Given the description of an element on the screen output the (x, y) to click on. 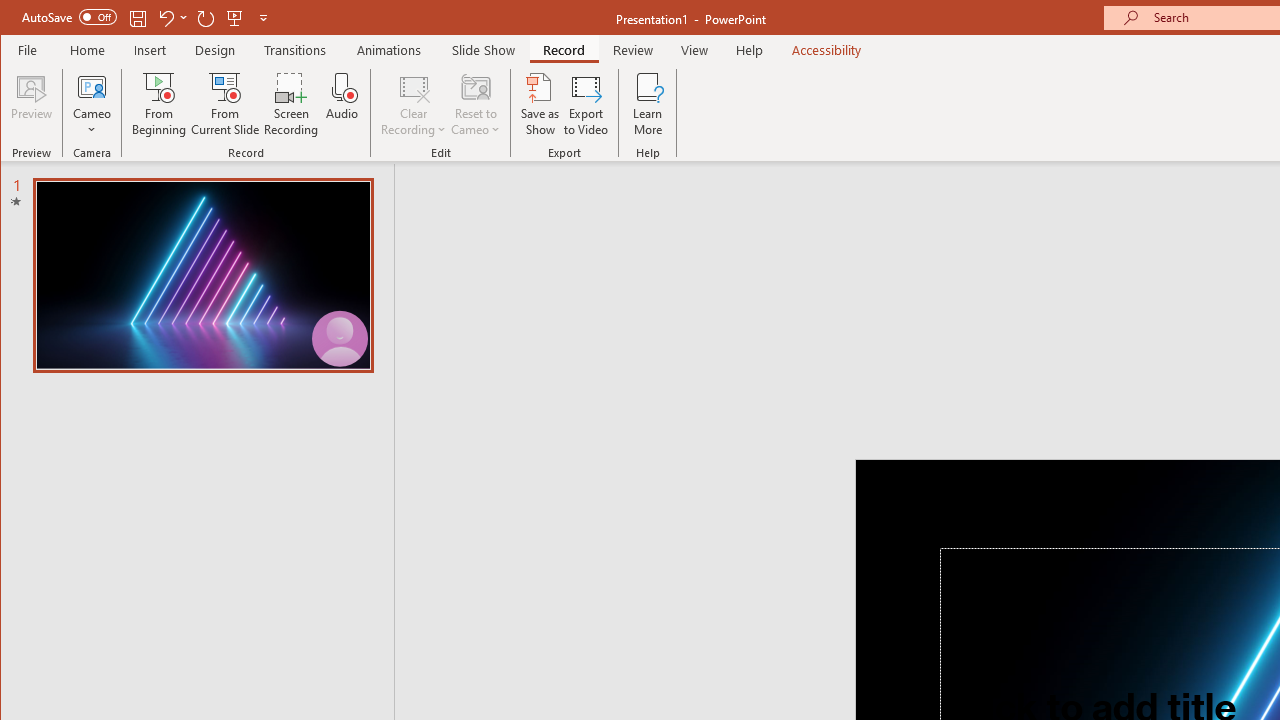
Cameo (91, 86)
Audio (342, 104)
Preview (31, 104)
From Current Slide... (225, 104)
Reset to Cameo (476, 104)
Clear Recording (413, 104)
Cameo (91, 104)
